Given the description of an element on the screen output the (x, y) to click on. 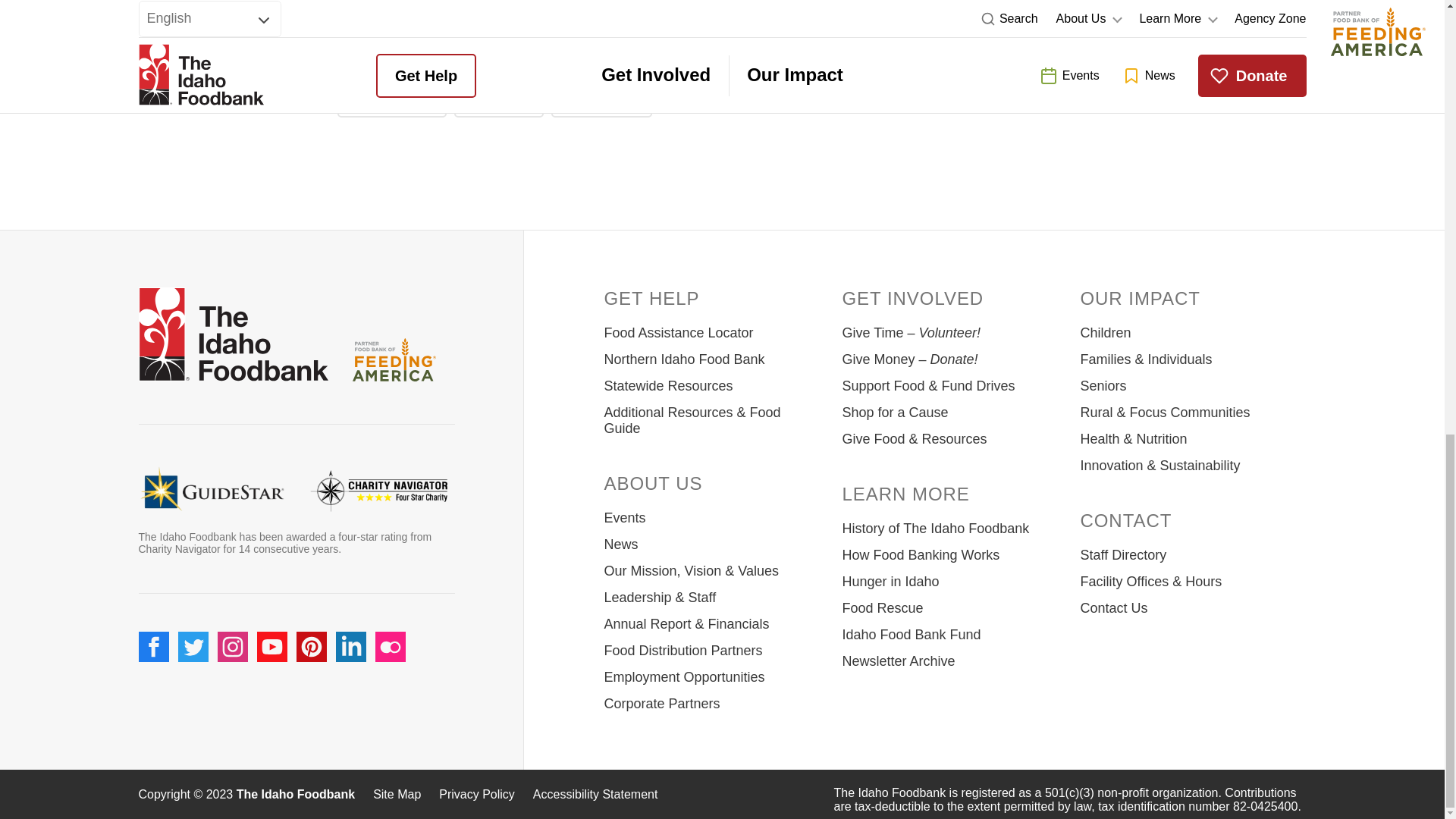
Share: LinkedIn (601, 99)
Share: Twitter (498, 99)
Share: Facebook (390, 99)
pinterest (310, 646)
youtube (271, 646)
linkedin (349, 646)
instagram (231, 646)
Go to Home page (232, 336)
facebook (153, 646)
flickr (389, 646)
twitter (192, 646)
